Given the description of an element on the screen output the (x, y) to click on. 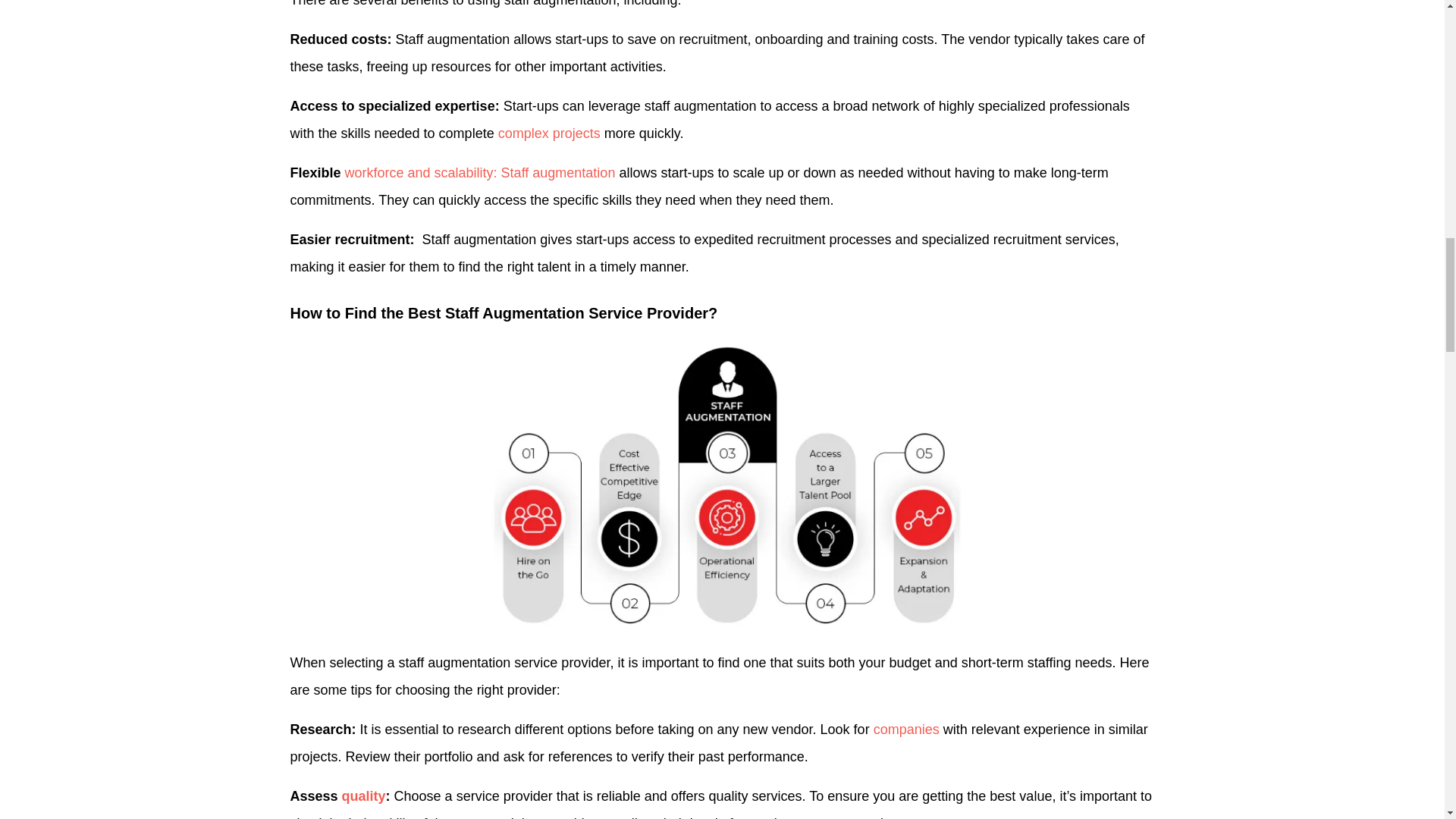
Company (906, 729)
